Given the description of an element on the screen output the (x, y) to click on. 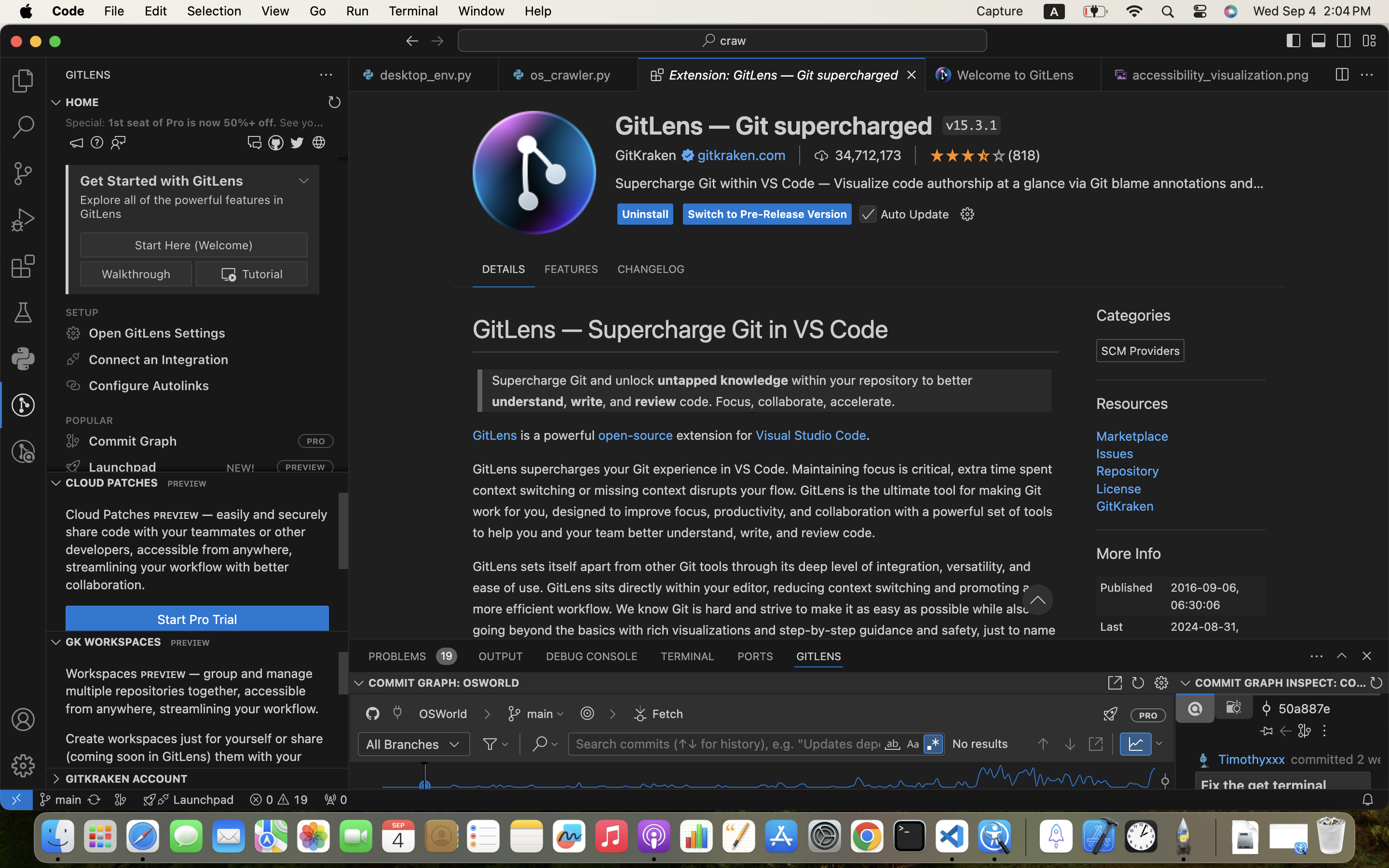
(818) Element type: AXStaticText (1023, 154)
Version Element type: AXStaticText (1310, 124)
Inline Blame Element type: AXStaticText (442, 335)
12 Element type: AXStaticText (394, 586)
and Element type: AXStaticText (506, 335)
